Given the description of an element on the screen output the (x, y) to click on. 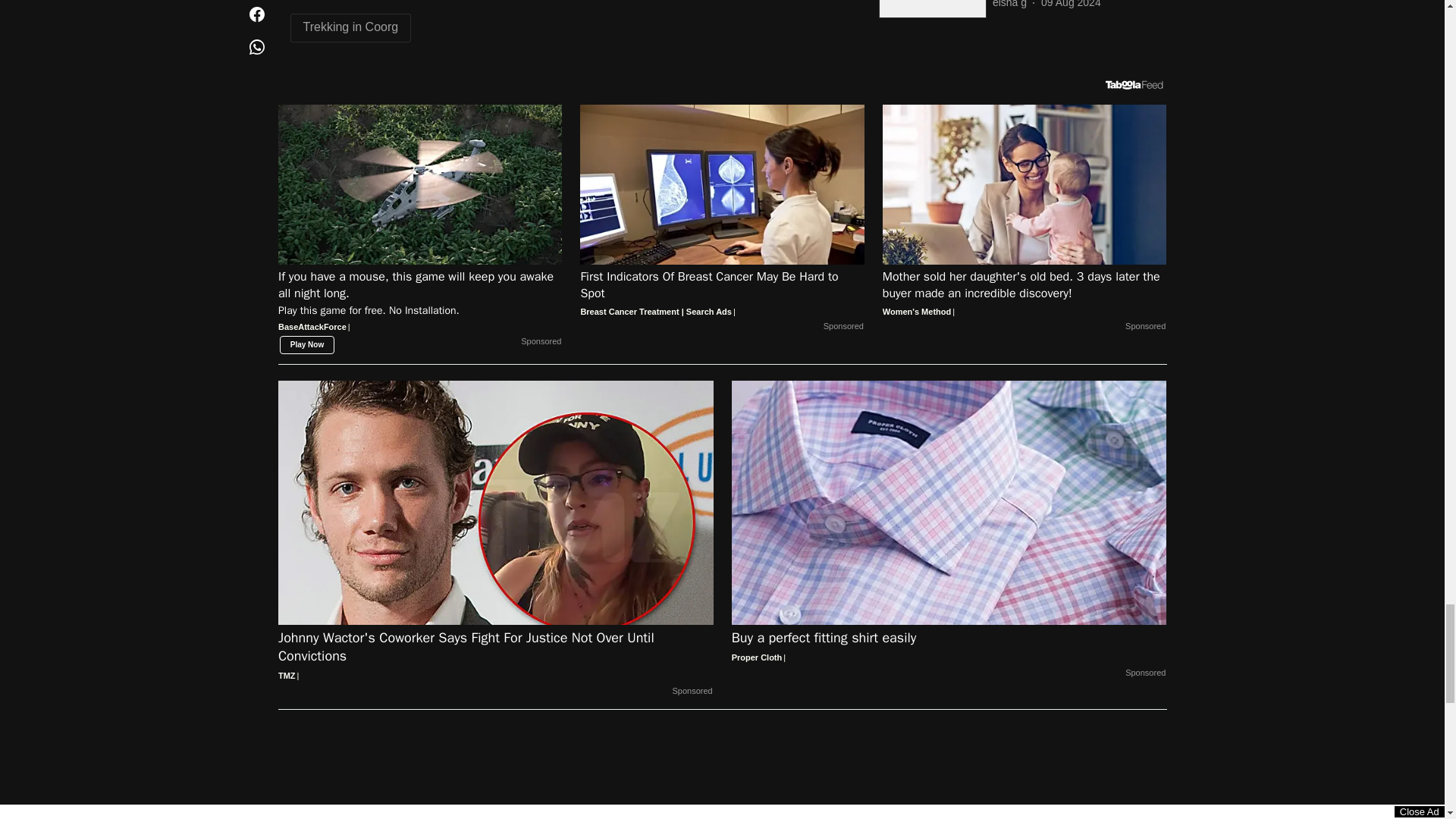
First Indicators Of Breast Cancer May Be Hard to Spot (721, 294)
Buy a perfect fitting shirt easily (949, 647)
Trekking in Coorg (350, 26)
